Given the description of an element on the screen output the (x, y) to click on. 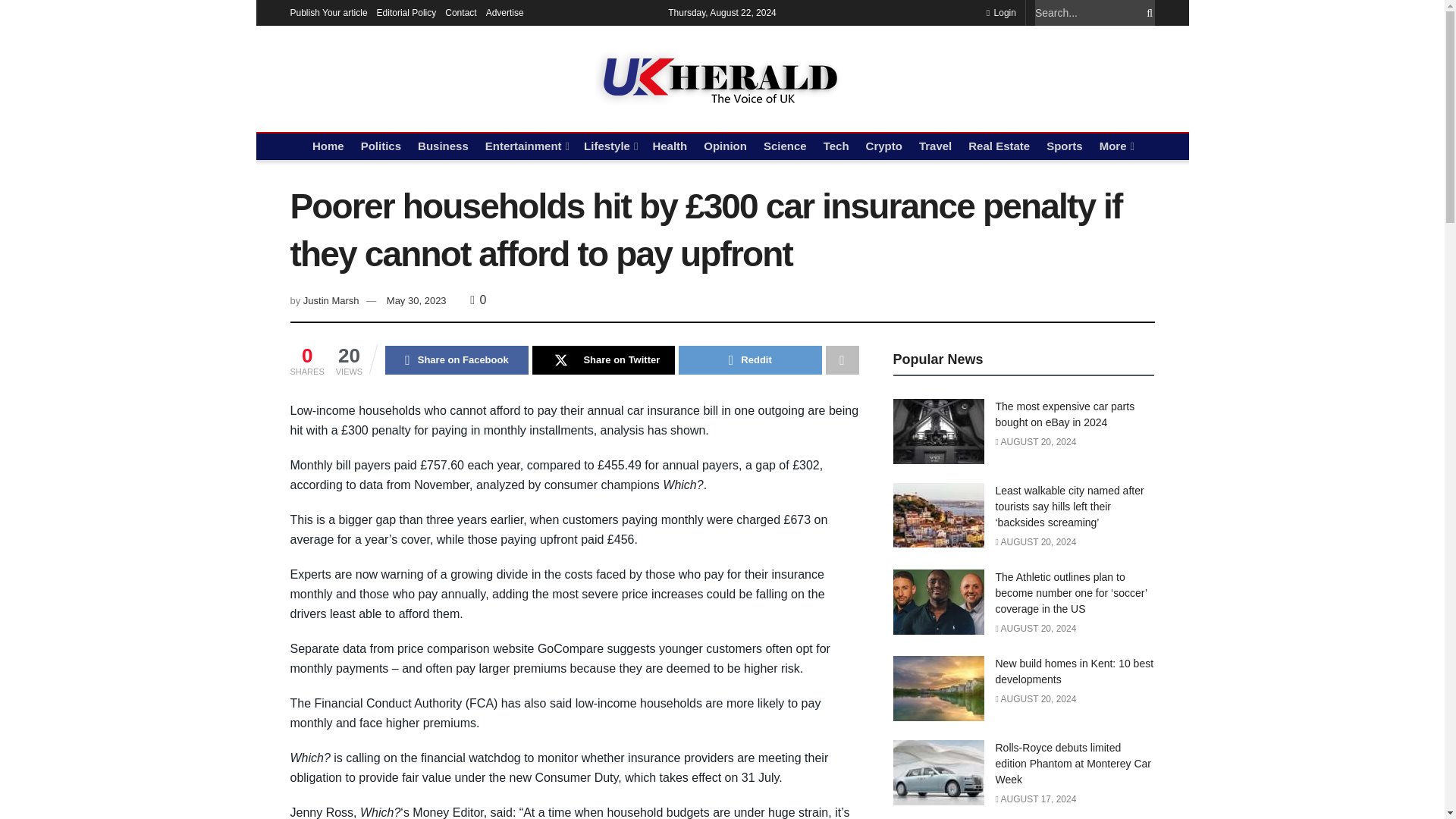
Lifestyle (608, 146)
Editorial Policy (406, 12)
Publish Your article (327, 12)
Entertainment (525, 146)
Advertise (505, 12)
Politics (381, 146)
Business (442, 146)
Home (328, 146)
Contact (460, 12)
Login (1001, 12)
